Given the description of an element on the screen output the (x, y) to click on. 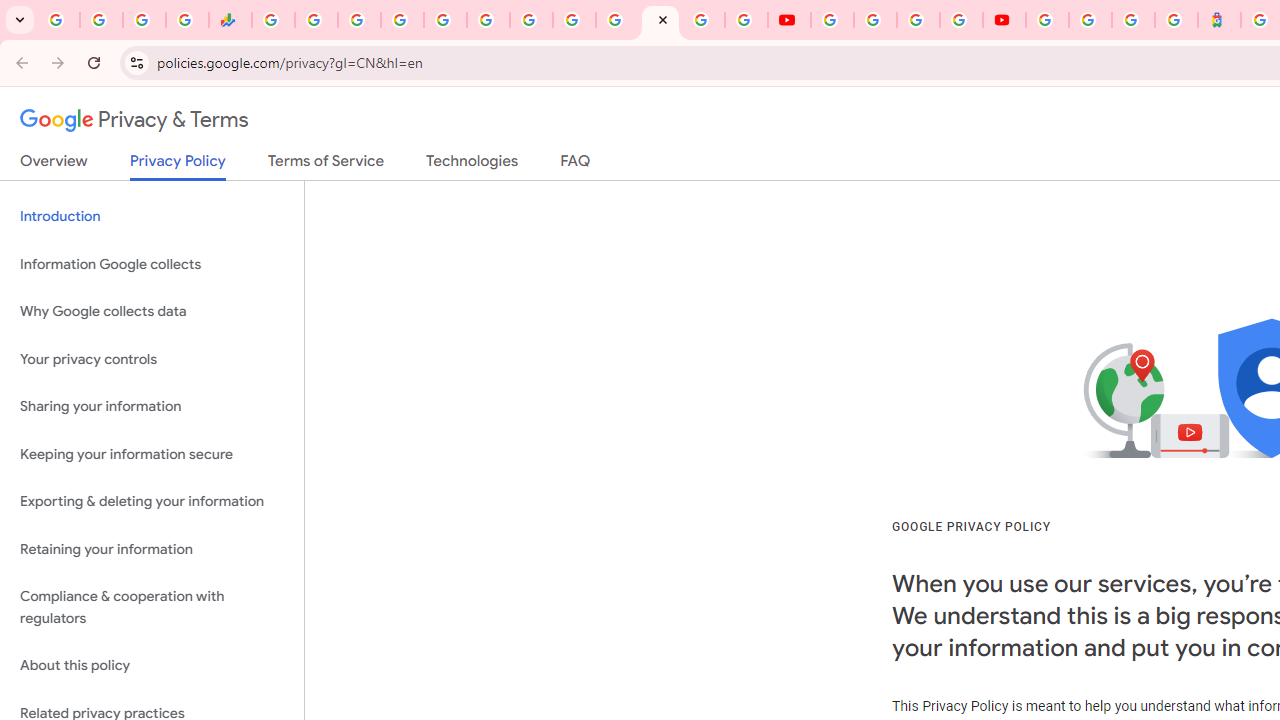
Why Google collects data (152, 312)
Compliance & cooperation with regulators (152, 607)
YouTube (832, 20)
Content Creator Programs & Opportunities - YouTube Creators (1004, 20)
Retaining your information (152, 548)
About this policy (152, 666)
Privacy Checkup (745, 20)
